Given the description of an element on the screen output the (x, y) to click on. 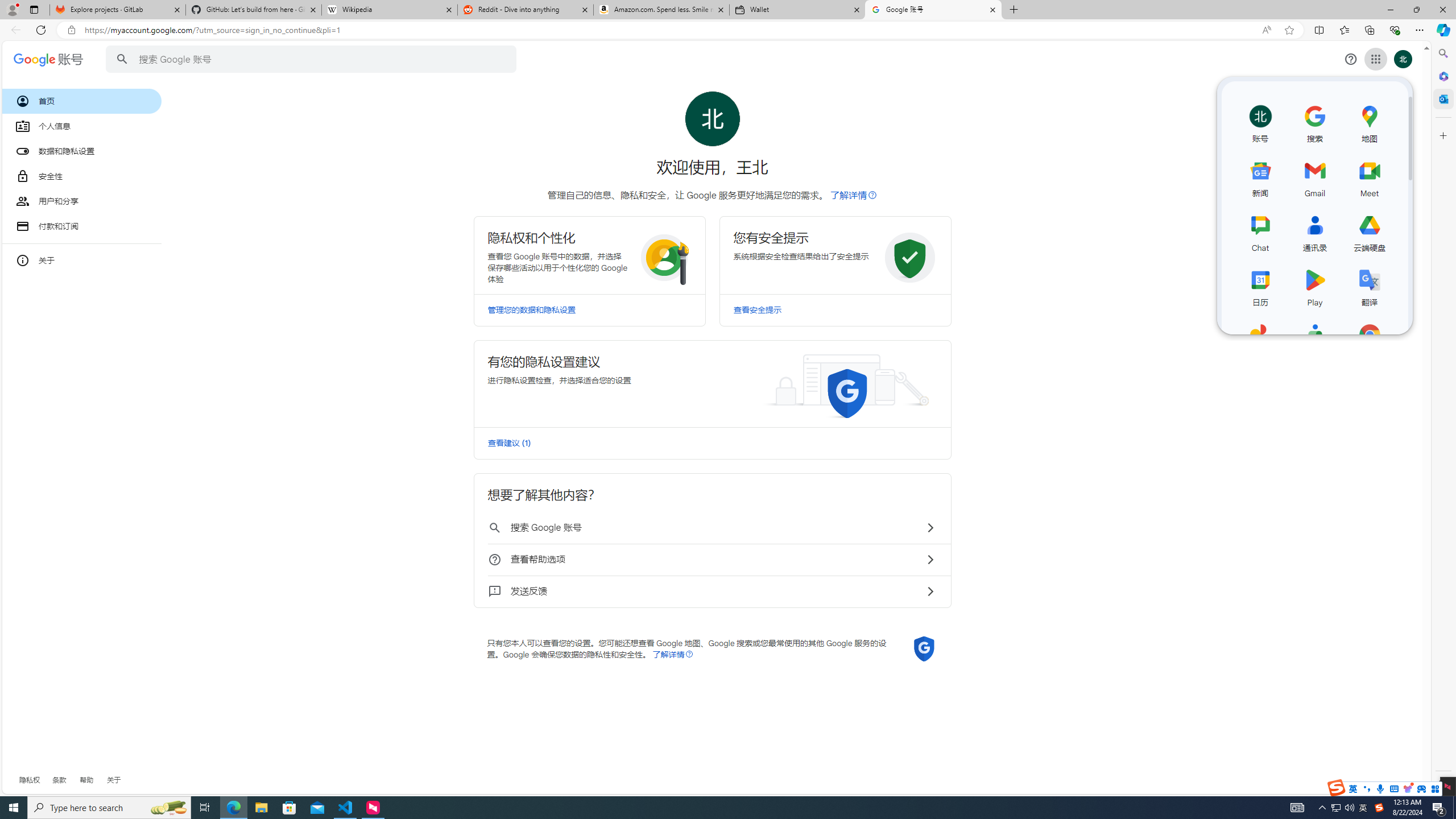
Meet (1369, 176)
Chat (1260, 230)
